Given the description of an element on the screen output the (x, y) to click on. 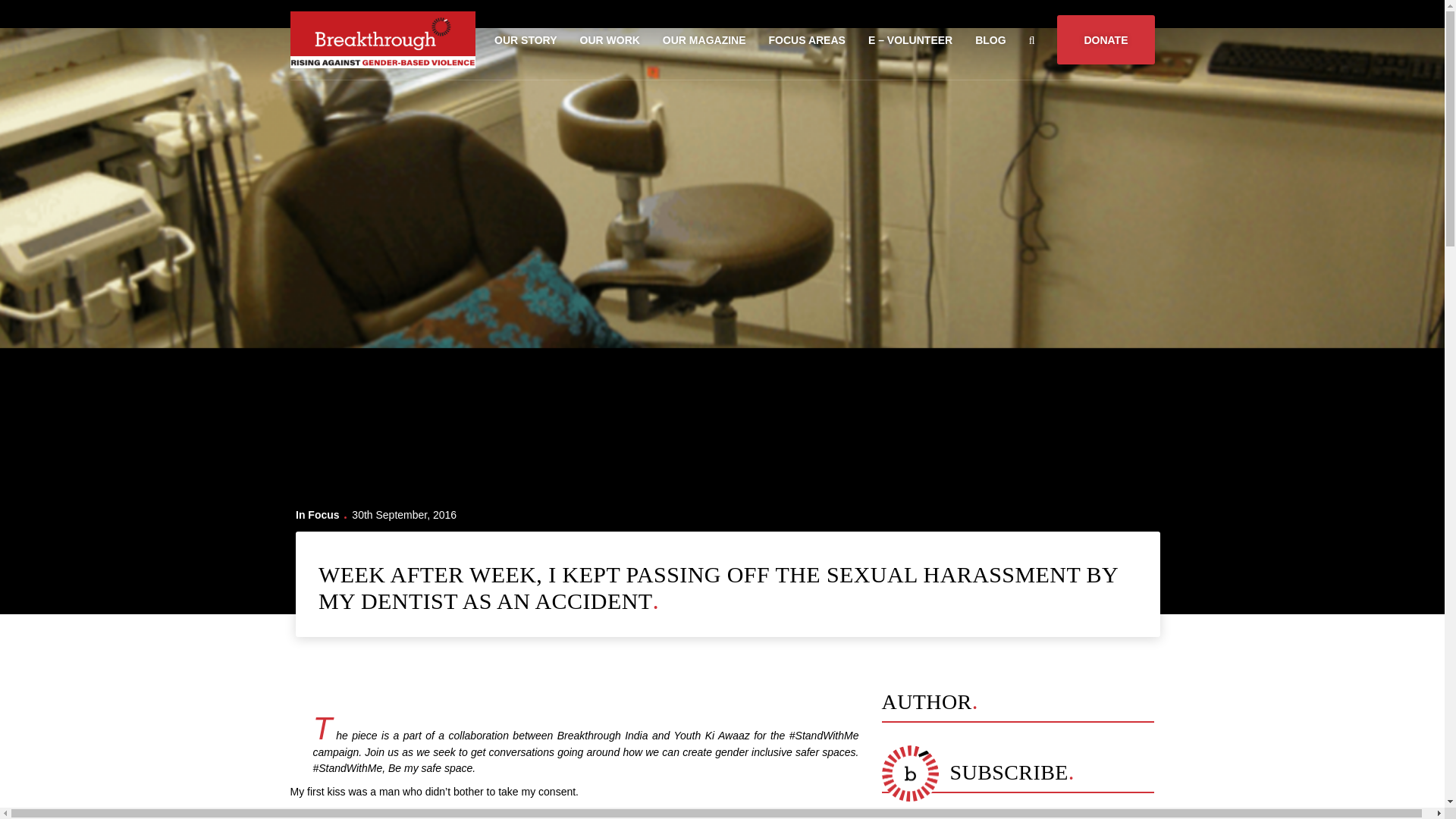
FOCUS AREAS (806, 39)
In Focus (317, 514)
Subscribe (29, 9)
OUR MAGAZINE (703, 39)
Focus Areas (806, 39)
DONATE (1105, 39)
Our Magazine (703, 39)
